Given the description of an element on the screen output the (x, y) to click on. 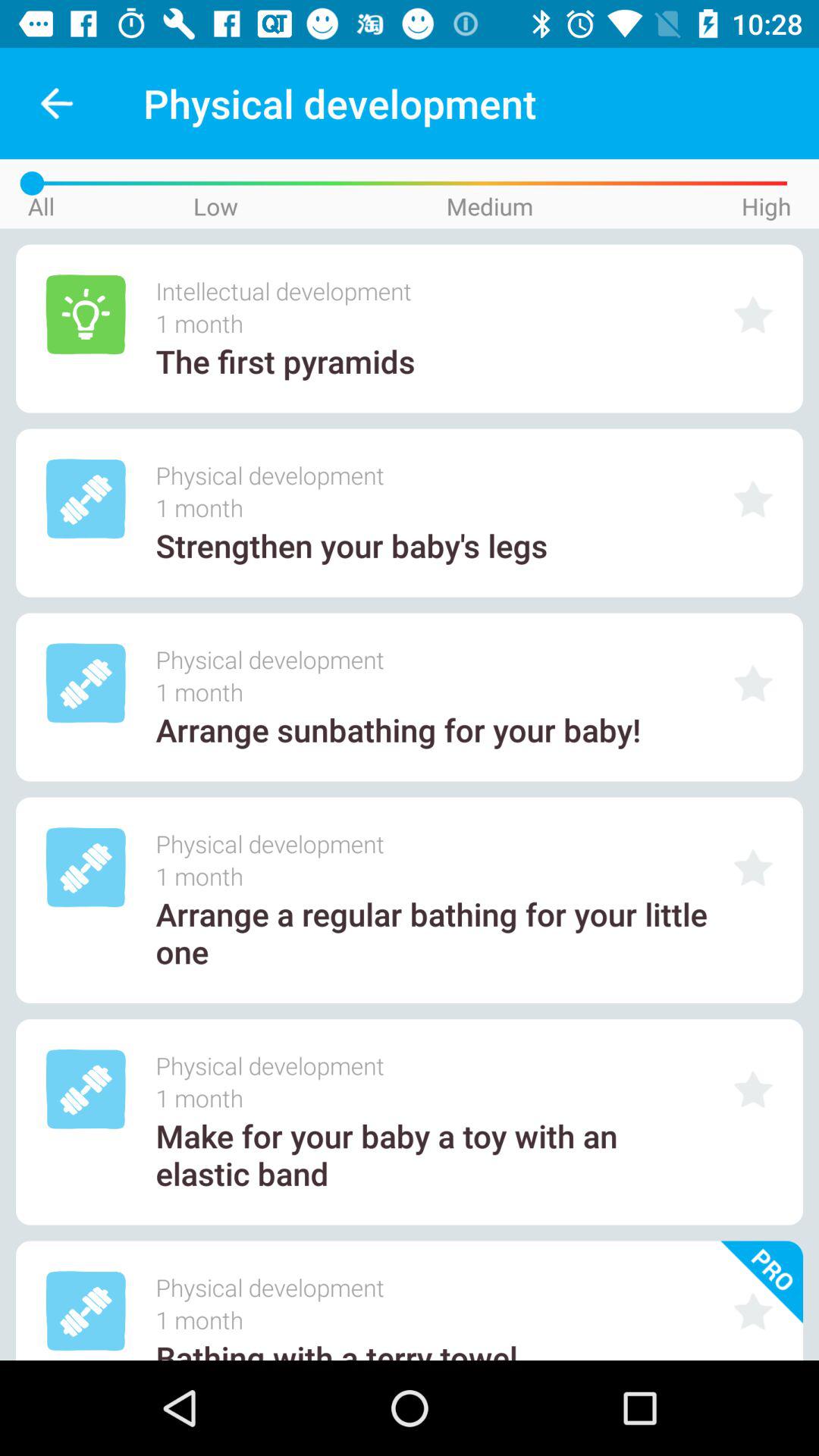
starred (753, 498)
